Given the description of an element on the screen output the (x, y) to click on. 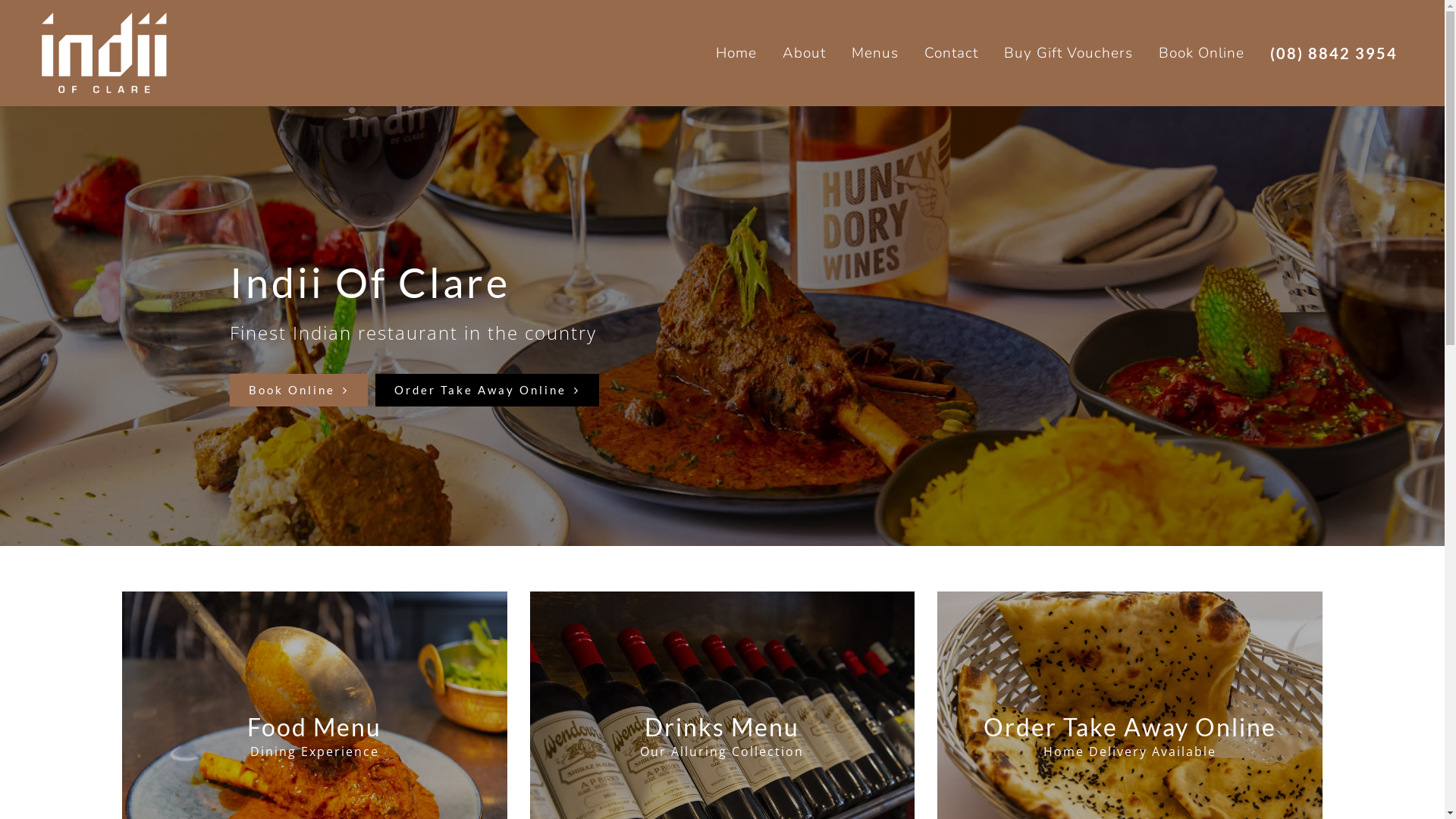
Contact Element type: text (951, 53)
About Element type: text (803, 53)
Order Take Away Online Element type: text (486, 389)
Book Online Element type: text (1201, 53)
Buy Gift Vouchers Element type: text (1068, 53)
Home Element type: text (735, 53)
Book Online Element type: text (298, 389)
Menus Element type: text (874, 53)
